Given the description of an element on the screen output the (x, y) to click on. 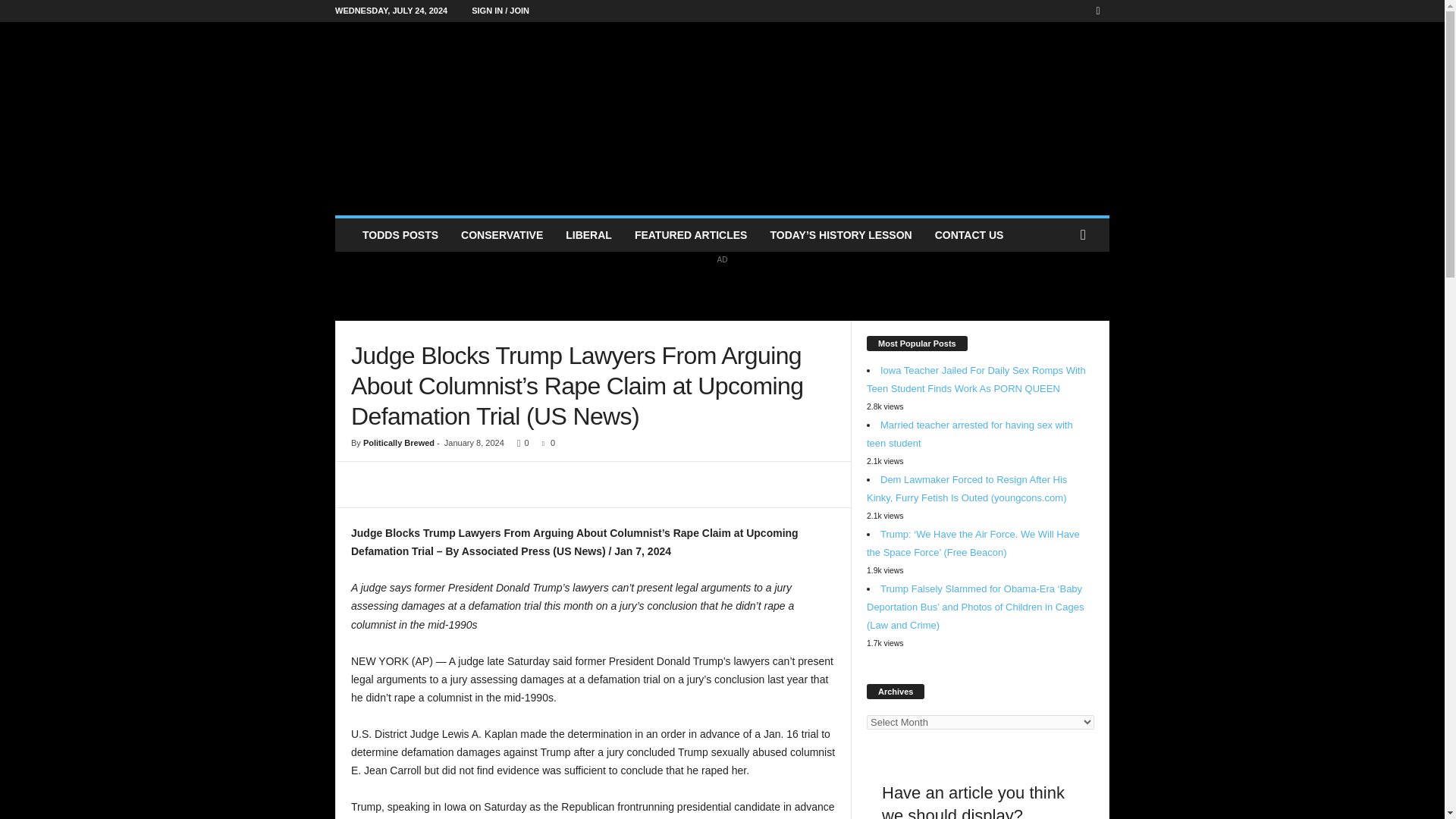
Facebook (1097, 11)
TODDS POSTS (399, 234)
CONSERVATIVE (501, 234)
